Given the description of an element on the screen output the (x, y) to click on. 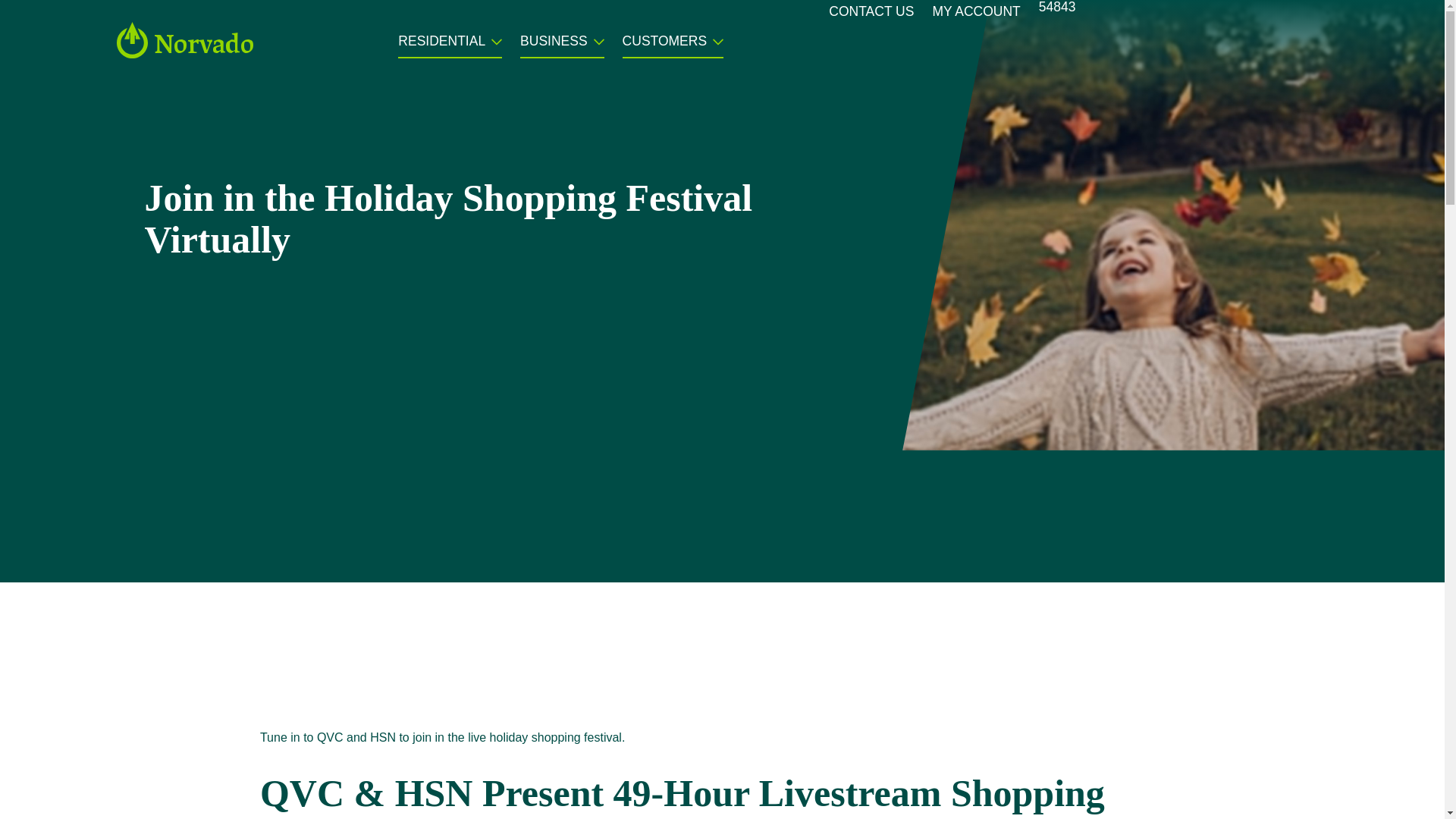
RESIDENTIAL (440, 46)
54843 (1057, 11)
CUSTOMERS (665, 46)
MY ACCOUNT (975, 15)
BUSINESS (553, 46)
CONTACT US (871, 15)
